Given the description of an element on the screen output the (x, y) to click on. 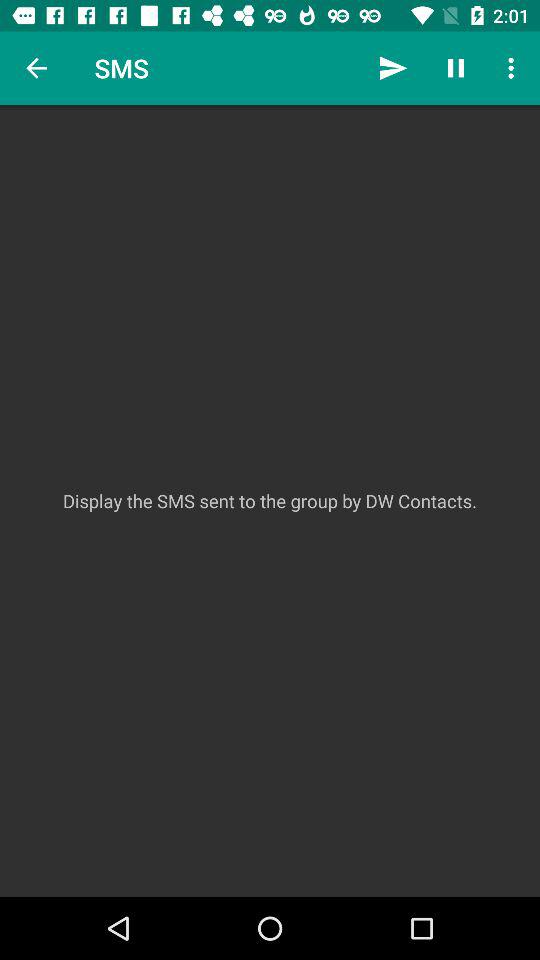
press item to the left of the sms icon (36, 68)
